Given the description of an element on the screen output the (x, y) to click on. 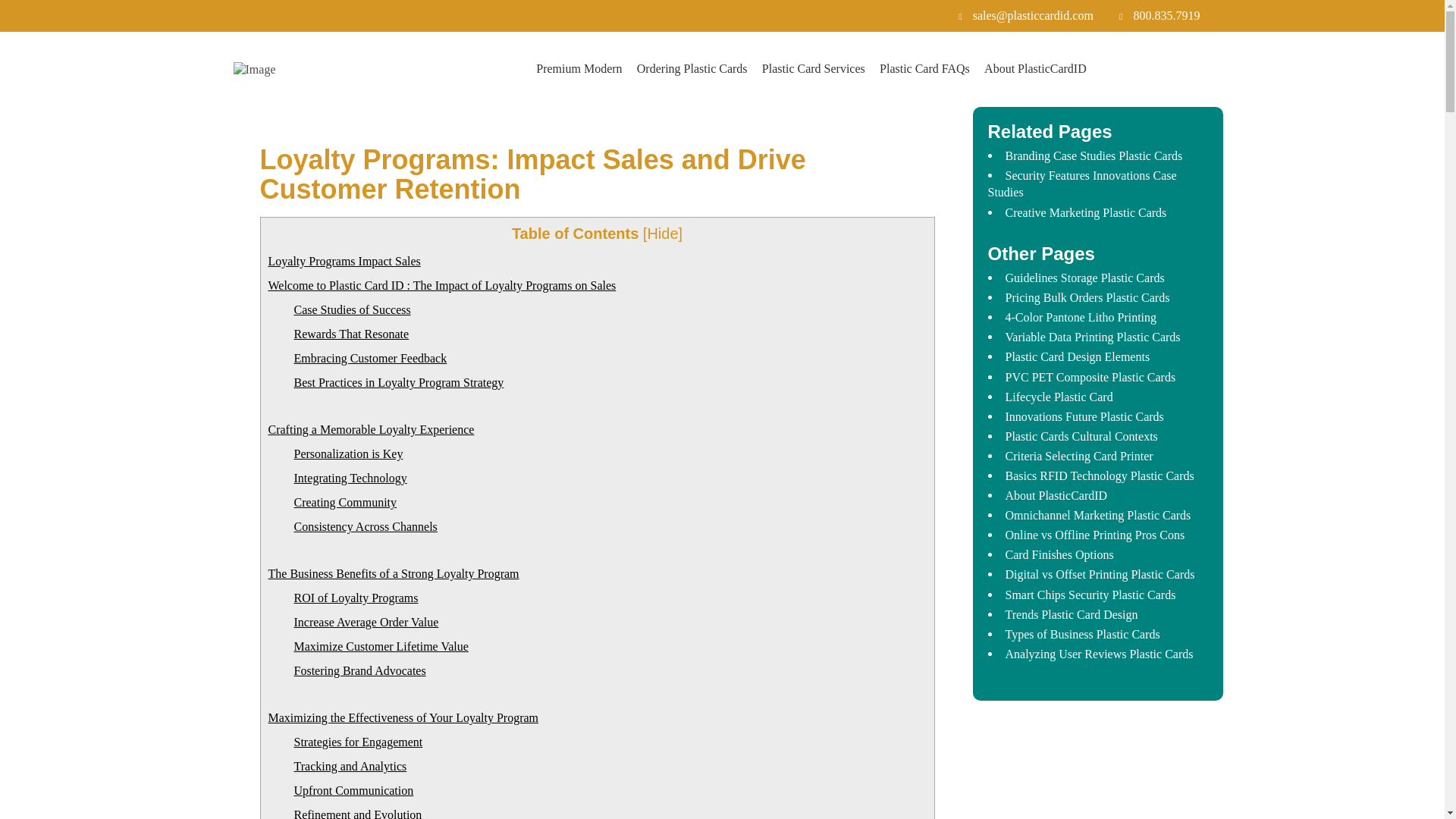
Ordering Plastic Cards (692, 69)
Tracking and Analytics (350, 766)
Fostering Brand Advocates (360, 670)
800.835.7919 (1159, 15)
Refinement and Evolution (358, 813)
Case Studies of Success (352, 309)
Embracing Customer Feedback (370, 358)
Maximizing the Effectiveness of Your Loyalty Program (402, 717)
Consistency Across Channels (366, 526)
Maximize Customer Lifetime Value (381, 645)
ROI of Loyalty Programs (356, 597)
Integrating Technology (350, 477)
Premium Modern (578, 69)
Upfront Communication (353, 789)
Increase Average Order Value (366, 621)
